Given the description of an element on the screen output the (x, y) to click on. 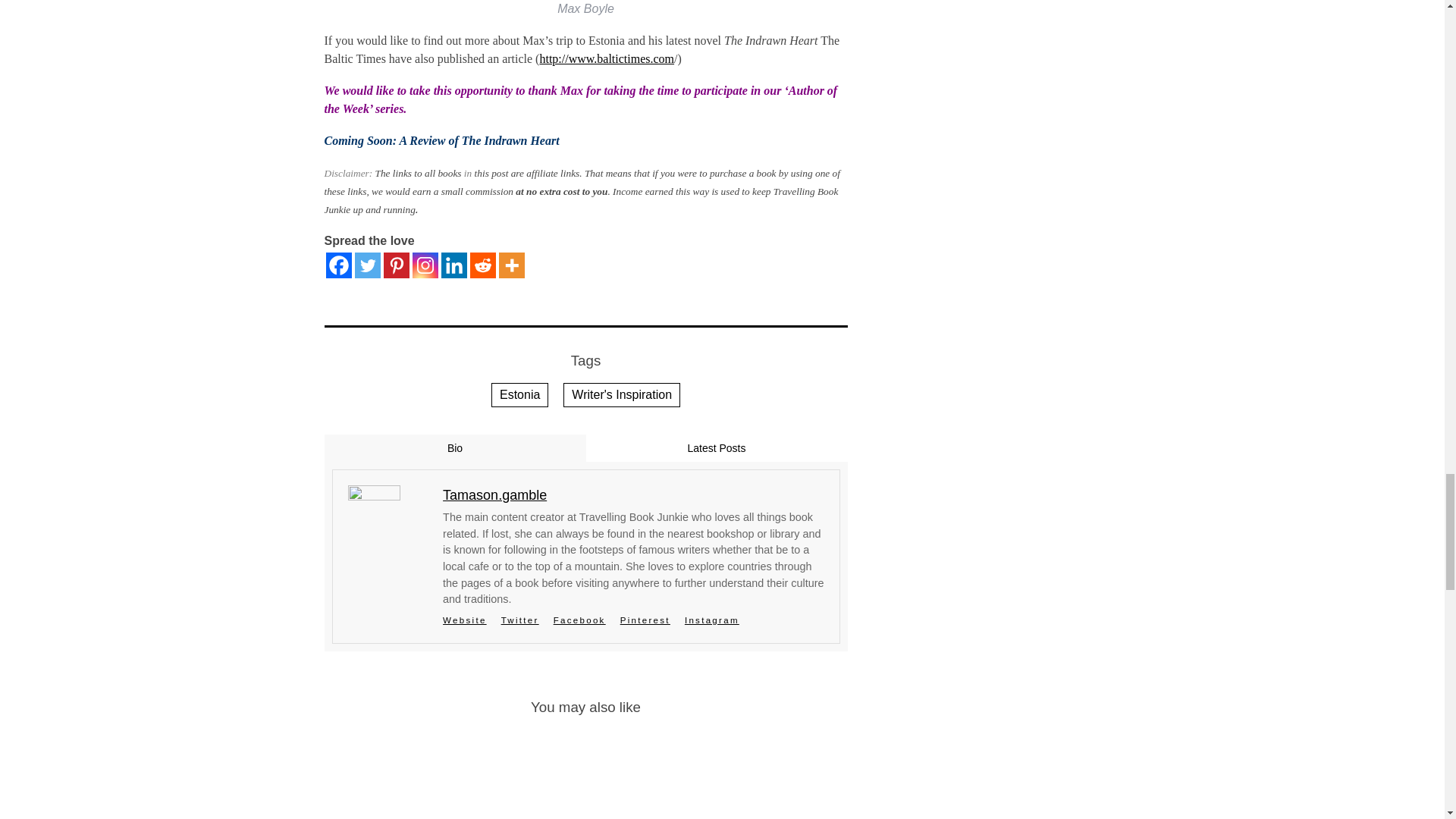
Pinterest (396, 265)
Linkedin (454, 265)
Twitter (367, 265)
More (511, 265)
Reddit (483, 265)
Facebook (339, 265)
Instagram (425, 265)
